Given the description of an element on the screen output the (x, y) to click on. 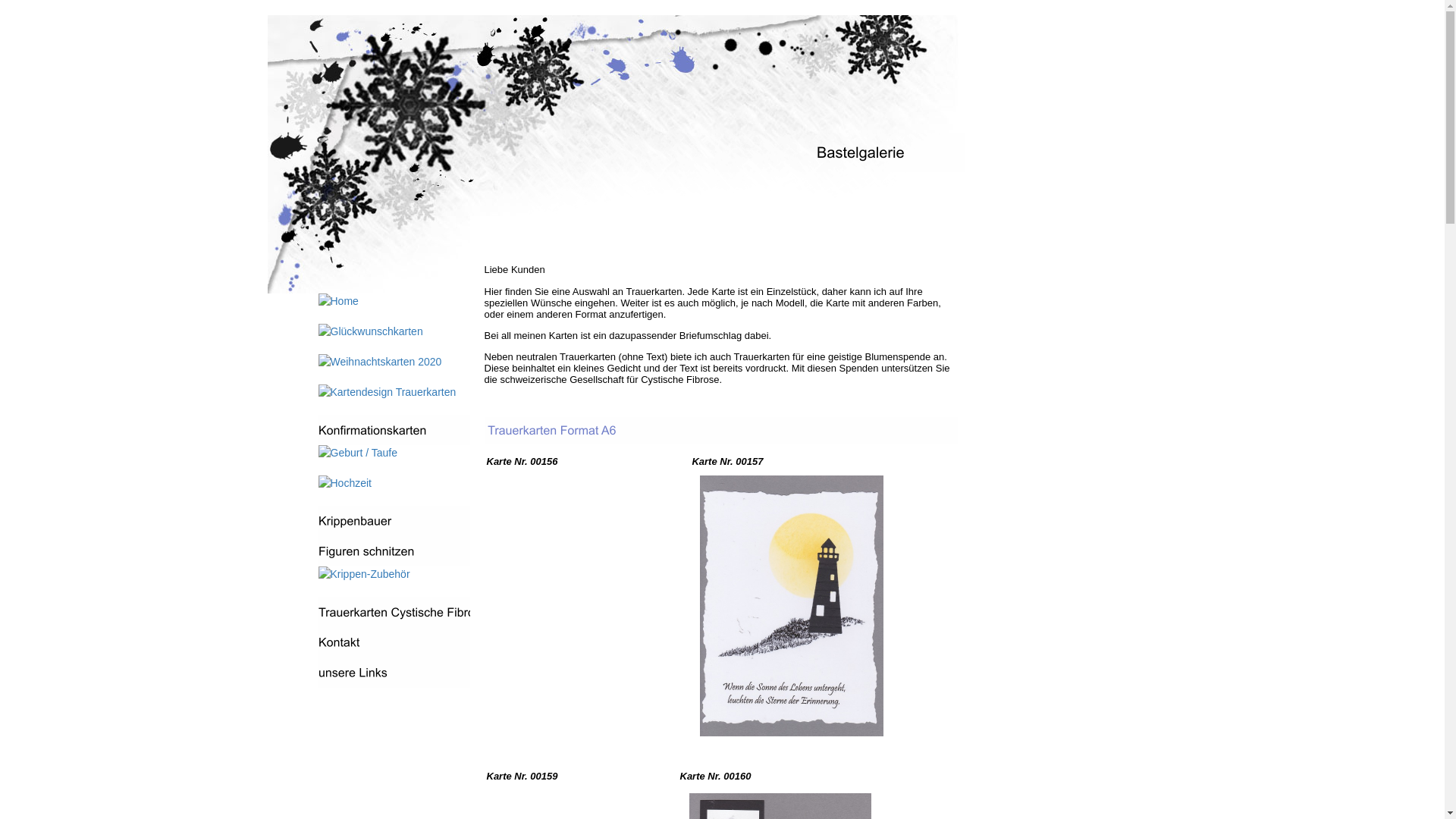
Trauerkarten Cystische Fibrose Element type: hover (394, 611)
Weihnachtskarten 2020 Element type: hover (394, 361)
Figuren schnitzen Element type: hover (394, 551)
unsere Links Element type: hover (394, 672)
Krippenbauer Element type: hover (394, 520)
Kontakt Element type: hover (394, 642)
Konfirmationskarten Element type: hover (394, 429)
Geburt / Taufe Element type: hover (394, 452)
Home Element type: hover (394, 300)
Kartendesign Trauerkarten Element type: hover (394, 391)
Hochzeit Element type: hover (394, 482)
